Given the description of an element on the screen output the (x, y) to click on. 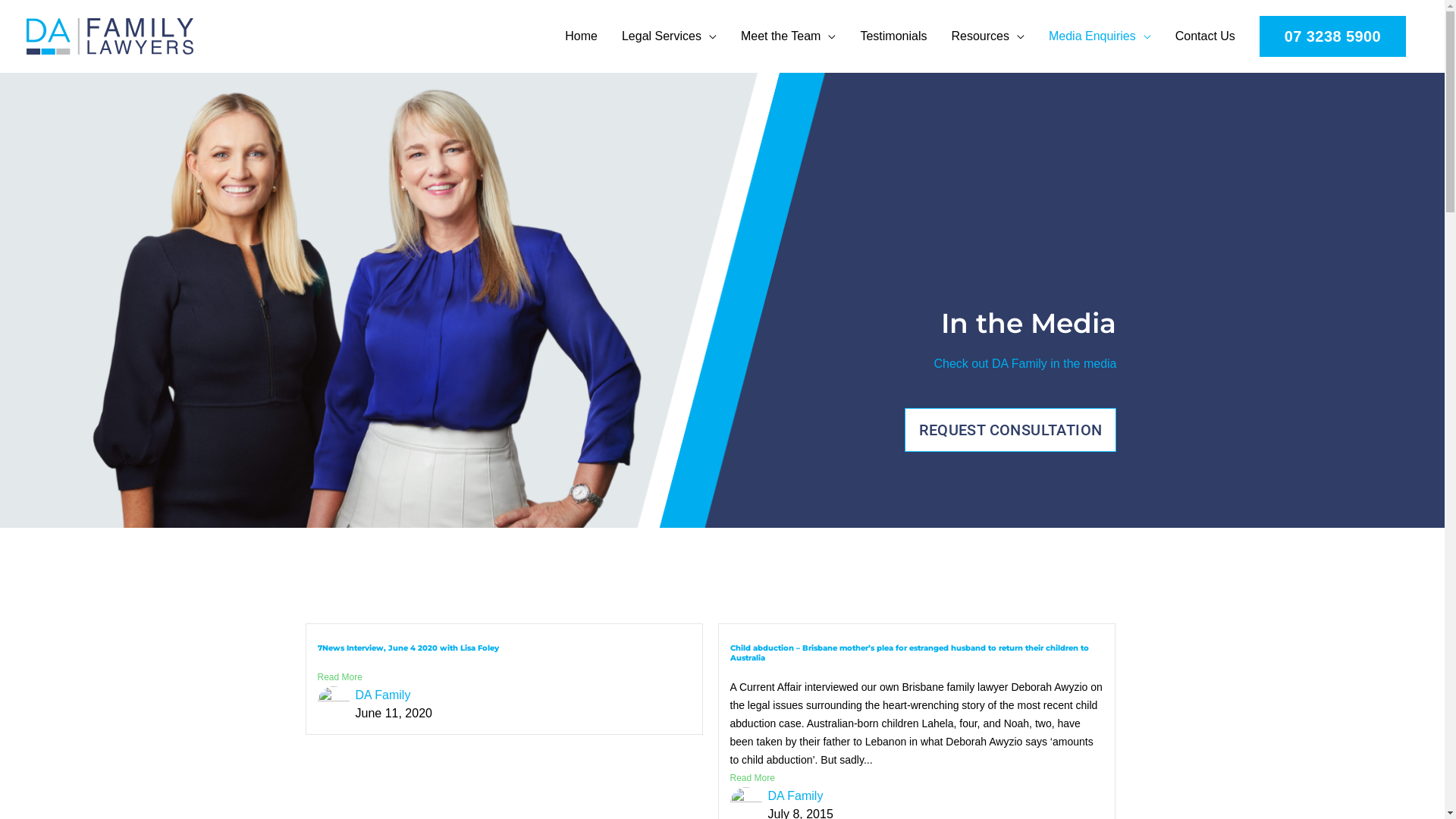
REQUEST CONSULTATION Element type: text (1010, 429)
DA Family Element type: text (382, 694)
Meet the Team Element type: text (788, 36)
7News Interview, June 4 2020 with Lisa Foley Element type: text (407, 647)
Read More Element type: text (503, 677)
Legal Services Element type: text (668, 36)
DA Family Element type: text (794, 795)
Media Enquiries Element type: text (1099, 36)
Resources Element type: text (986, 36)
Home Element type: text (580, 36)
Testimonials Element type: text (892, 36)
Read More Element type: text (915, 777)
Contact Us Element type: text (1205, 36)
07 3238 5900 Element type: text (1332, 35)
